Given the description of an element on the screen output the (x, y) to click on. 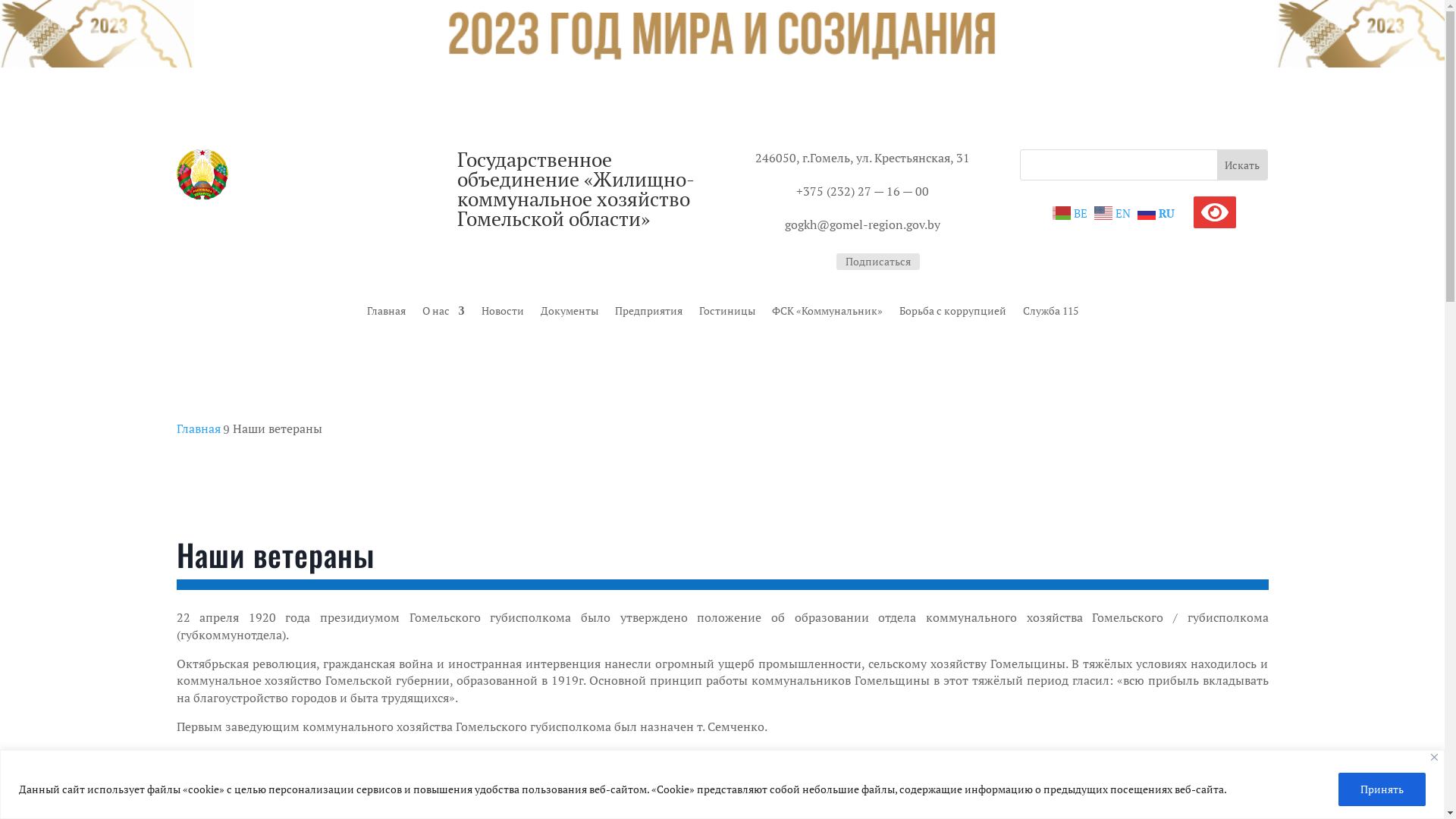
RU Element type: text (1157, 211)
BE Element type: text (1071, 211)
2023-god Element type: hover (722, 33)
EN Element type: text (1114, 211)
logo Element type: hover (238, 174)
